Given the description of an element on the screen output the (x, y) to click on. 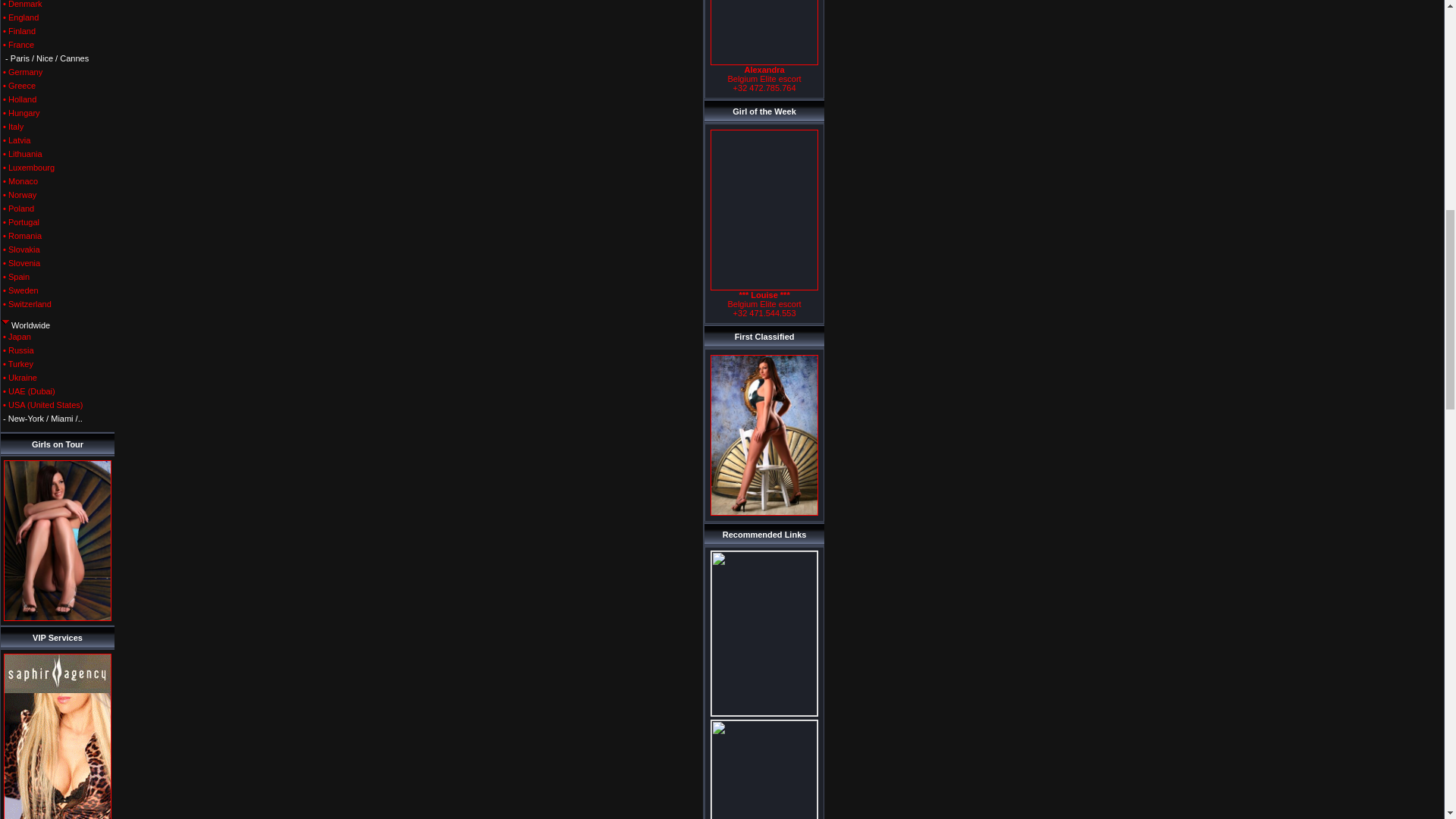
Recommended girl (764, 32)
